Given the description of an element on the screen output the (x, y) to click on. 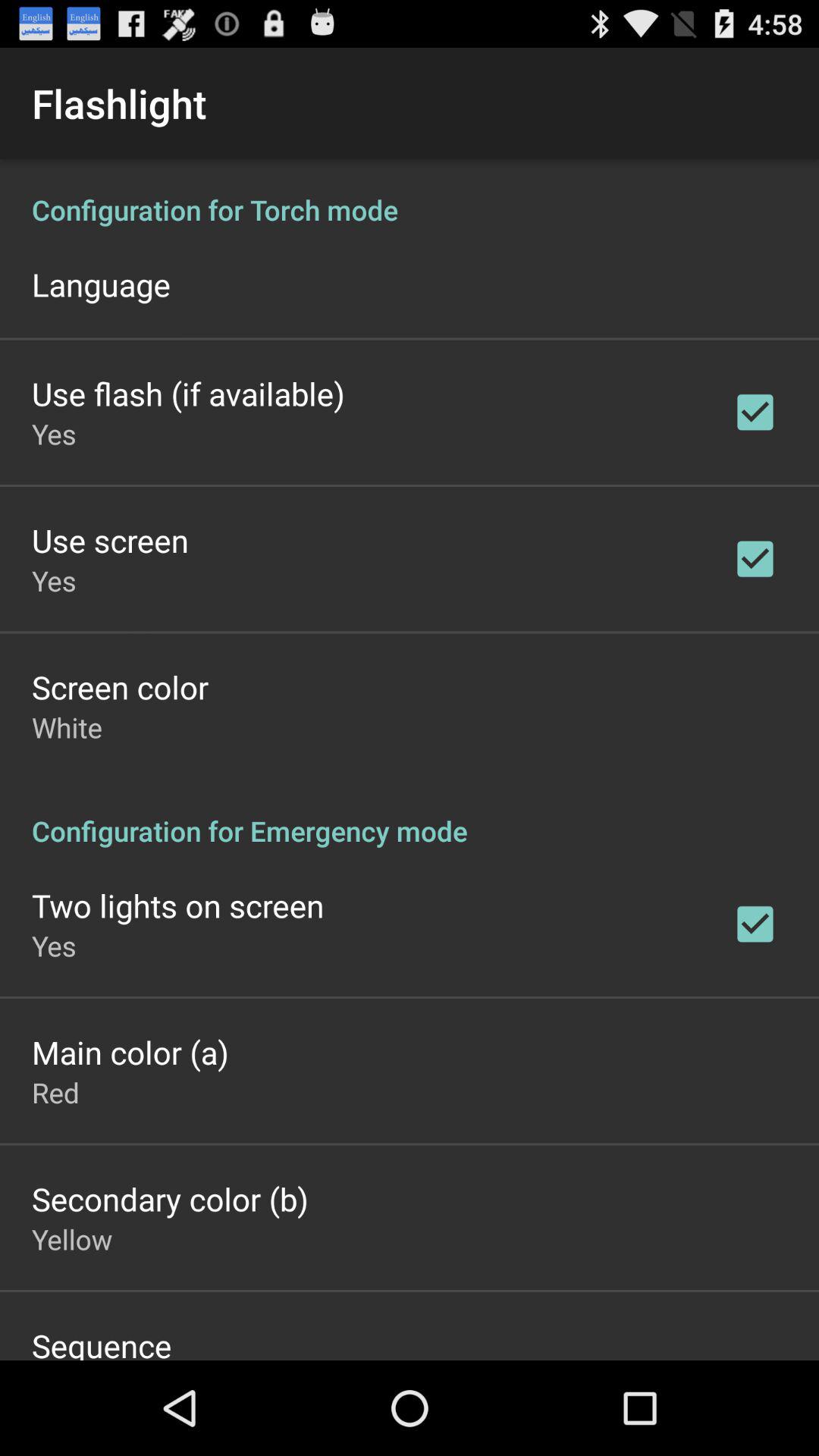
click icon below main color (a) (55, 1092)
